Given the description of an element on the screen output the (x, y) to click on. 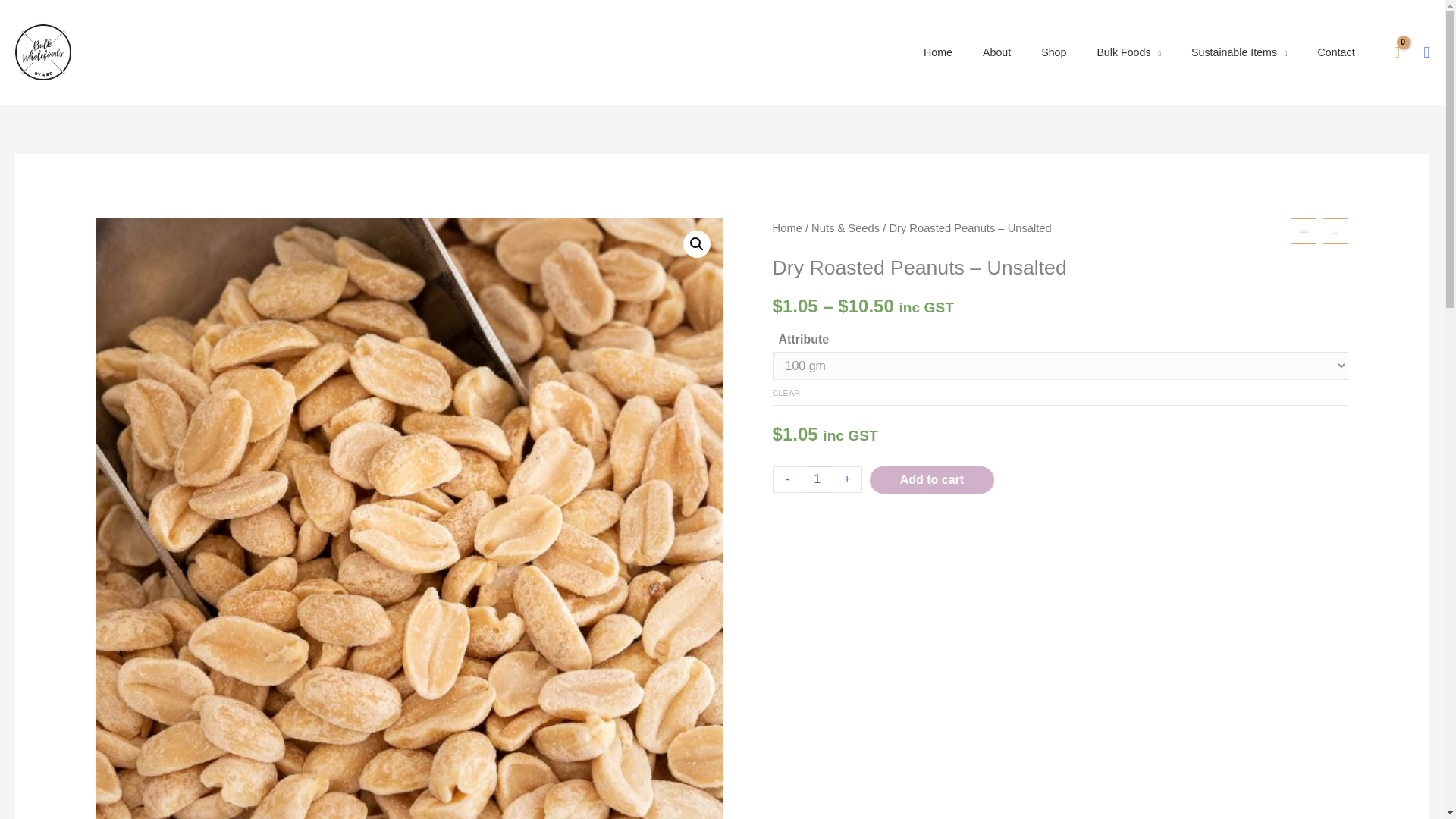
About (997, 51)
Shop (1053, 51)
Contact (1336, 51)
Qty (817, 479)
1 (817, 479)
Bulk Foods (1128, 51)
Home (938, 51)
Sustainable Items (1239, 51)
View your shopping cart (1397, 52)
